Given the description of an element on the screen output the (x, y) to click on. 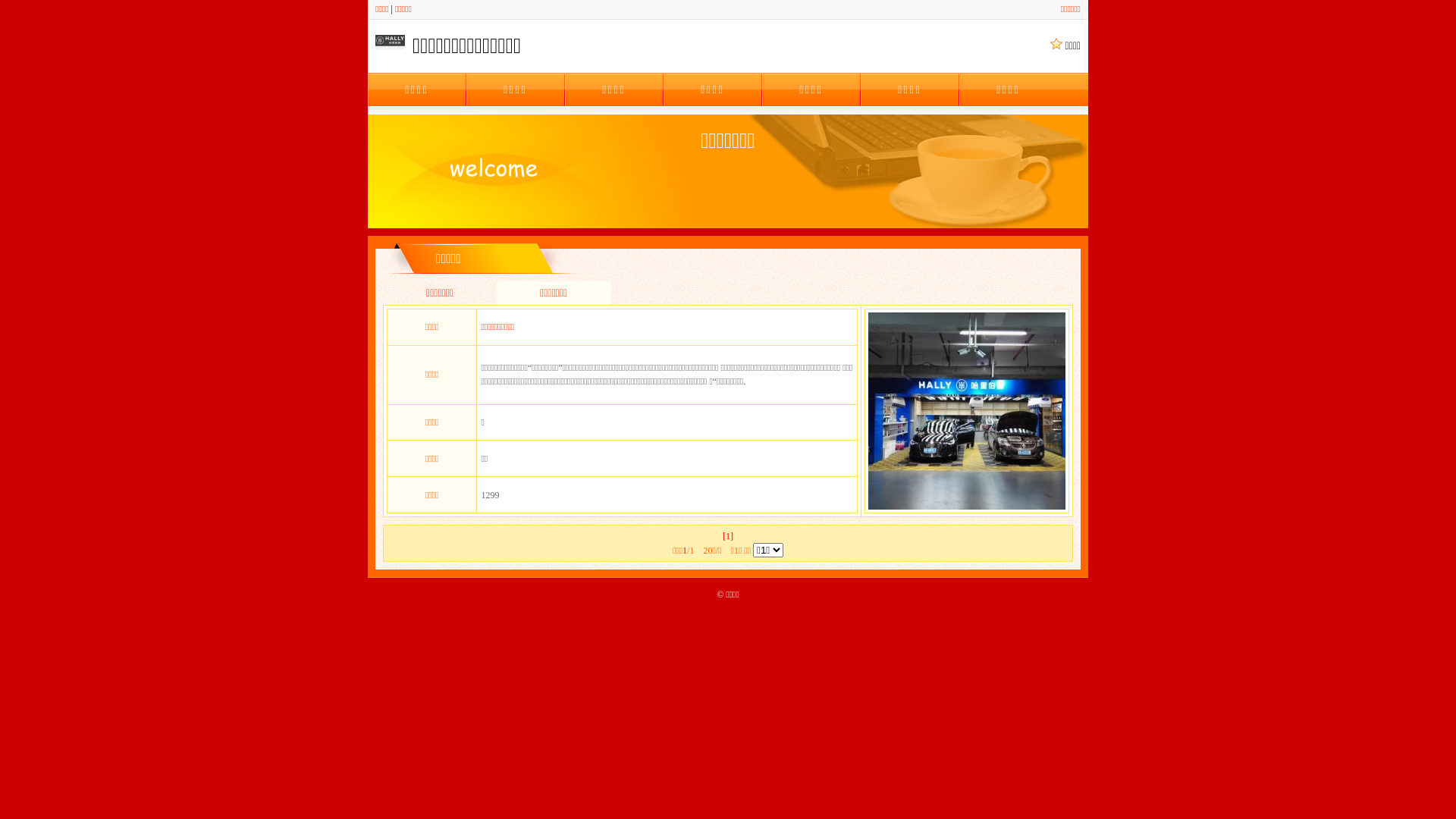
[1] Element type: text (727, 535)
